Given the description of an element on the screen output the (x, y) to click on. 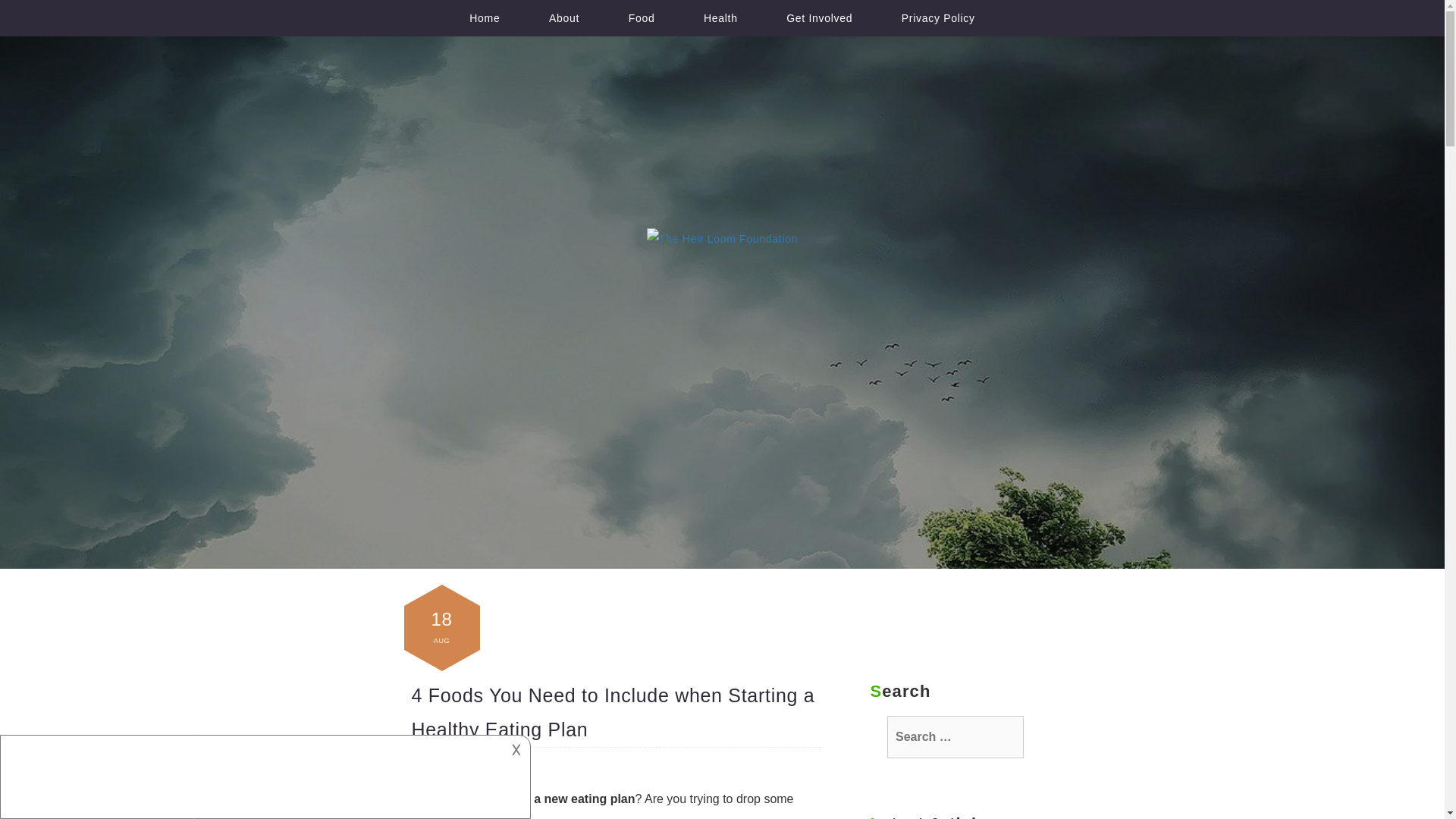
Health (720, 18)
description (252, 773)
Home (484, 18)
Search (15, 6)
Food (641, 18)
About (563, 18)
Privacy Policy (938, 18)
Get Involved (818, 18)
